Given the description of an element on the screen output the (x, y) to click on. 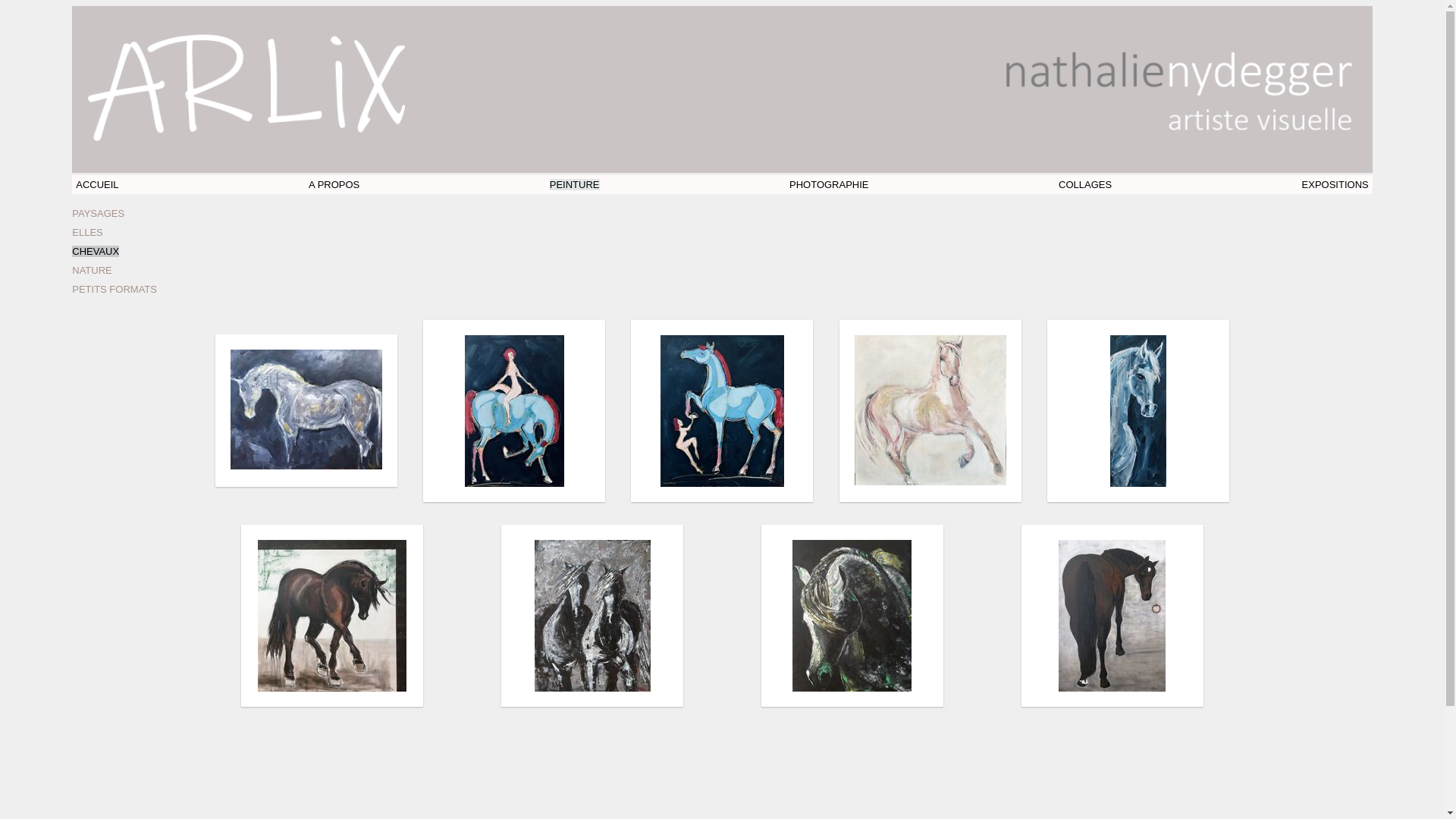
EXPOSITIONS Element type: text (1335, 184)
COLLAGES Element type: text (1084, 184)
ACCUEIL Element type: text (96, 184)
NATURE Element type: text (91, 270)
A PROPOS Element type: text (333, 184)
PAYSAGES Element type: text (98, 213)
PETITS FORMATS Element type: text (114, 288)
PEINTURE Element type: text (574, 184)
ELLES Element type: text (87, 232)
PHOTOGRAPHIE Element type: text (829, 184)
CHEVAUX Element type: text (95, 251)
